Given the description of an element on the screen output the (x, y) to click on. 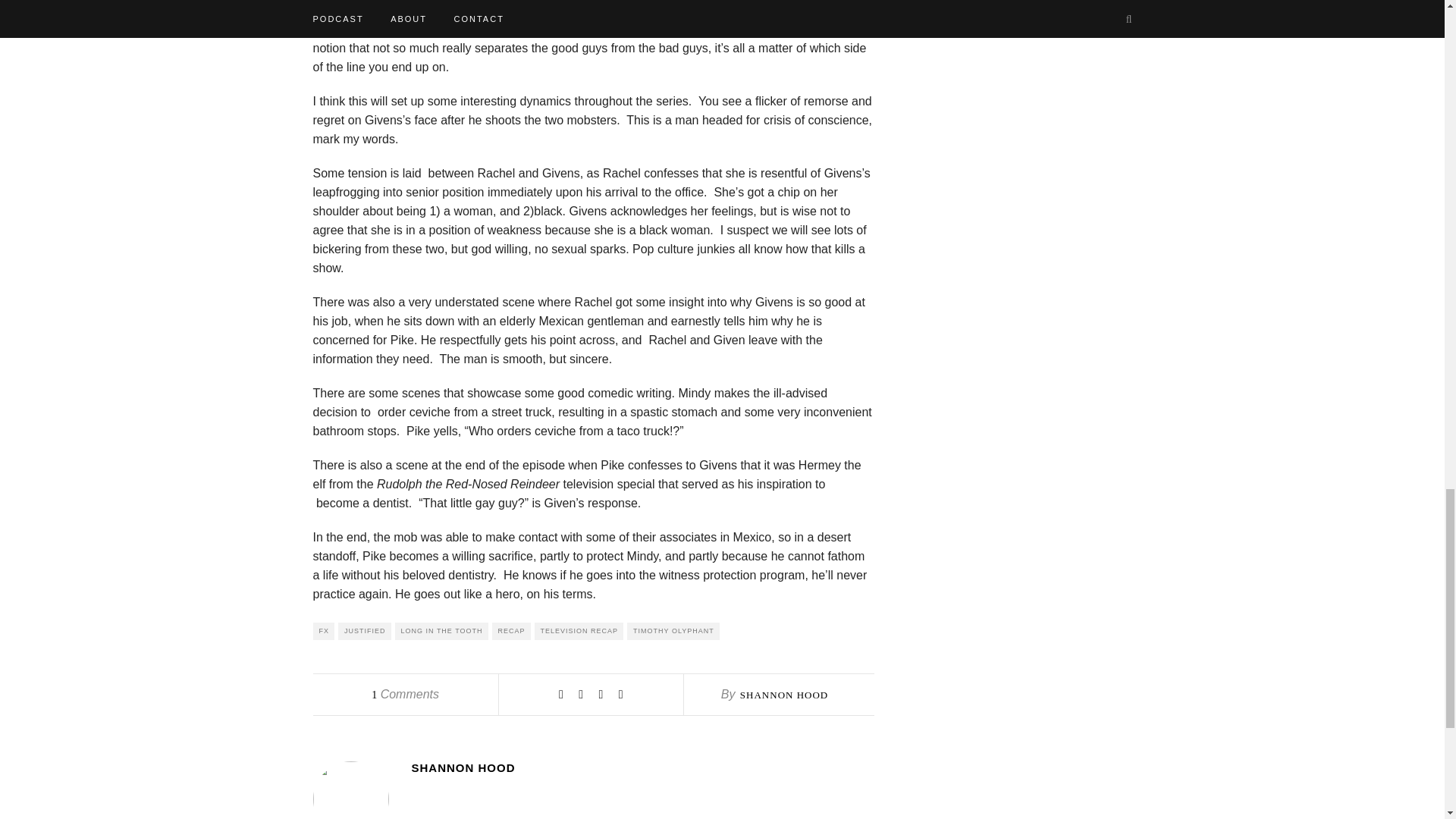
FX (323, 630)
Posts by Shannon Hood (783, 695)
RECAP (511, 630)
LONG IN THE TOOTH (440, 630)
1 Comments (405, 694)
SHANNON HOOD (783, 695)
JUSTIFIED (364, 630)
TELEVISION RECAP (579, 630)
Posts by Shannon Hood (641, 767)
SHANNON HOOD (641, 767)
